Given the description of an element on the screen output the (x, y) to click on. 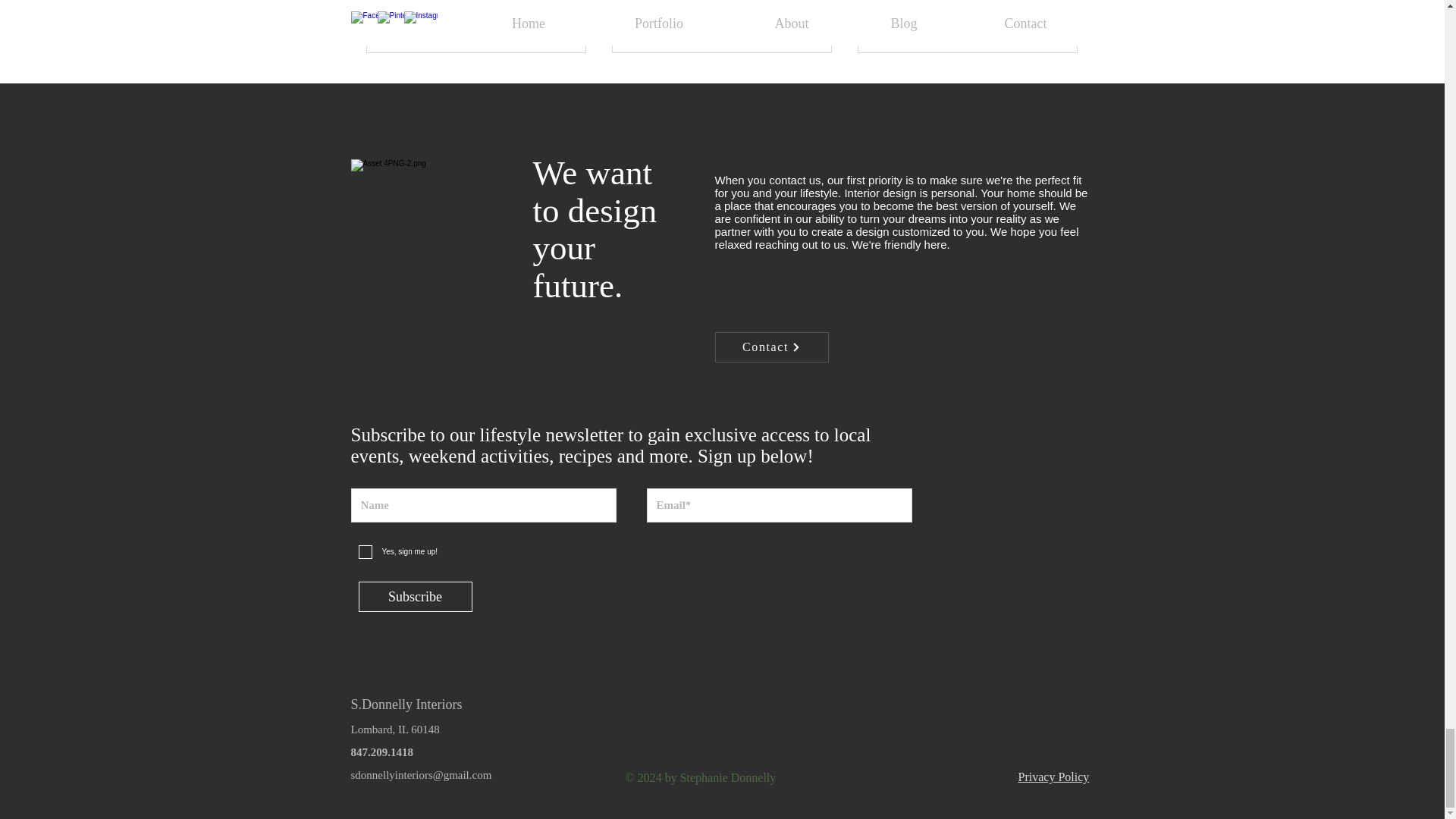
0 (555, 27)
0 (800, 27)
0 (1046, 27)
Privacy Policy (435, 27)
Contact (685, 27)
Subscribe (926, 27)
